Given the description of an element on the screen output the (x, y) to click on. 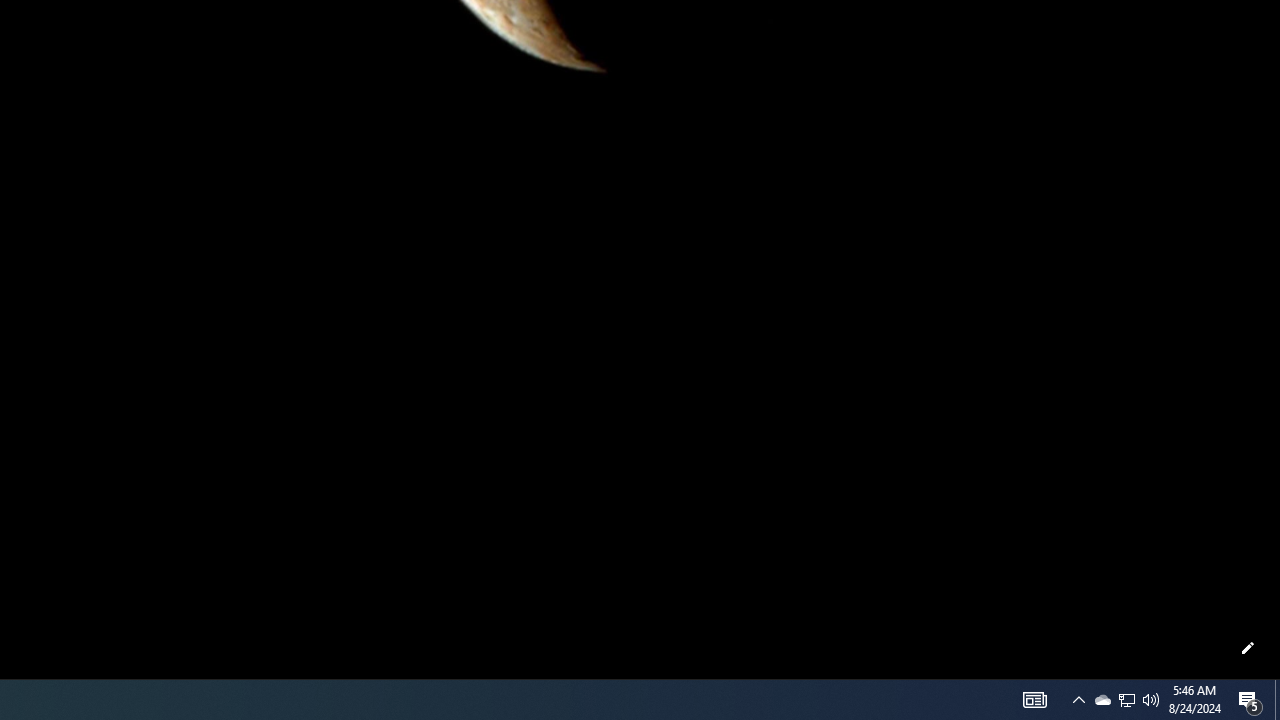
Customize this page (1247, 647)
